Given the description of an element on the screen output the (x, y) to click on. 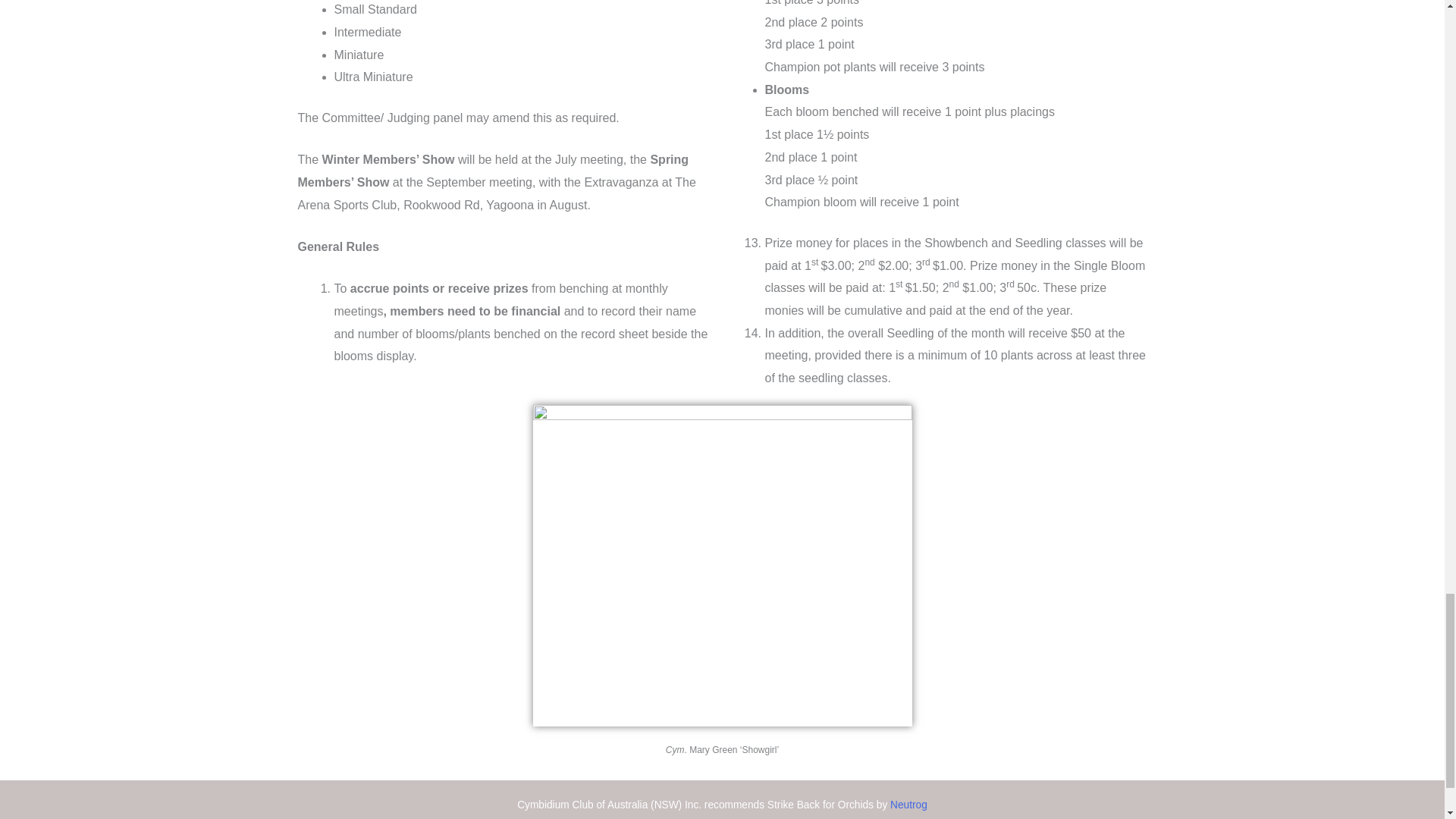
Neutrog (908, 804)
